Given the description of an element on the screen output the (x, y) to click on. 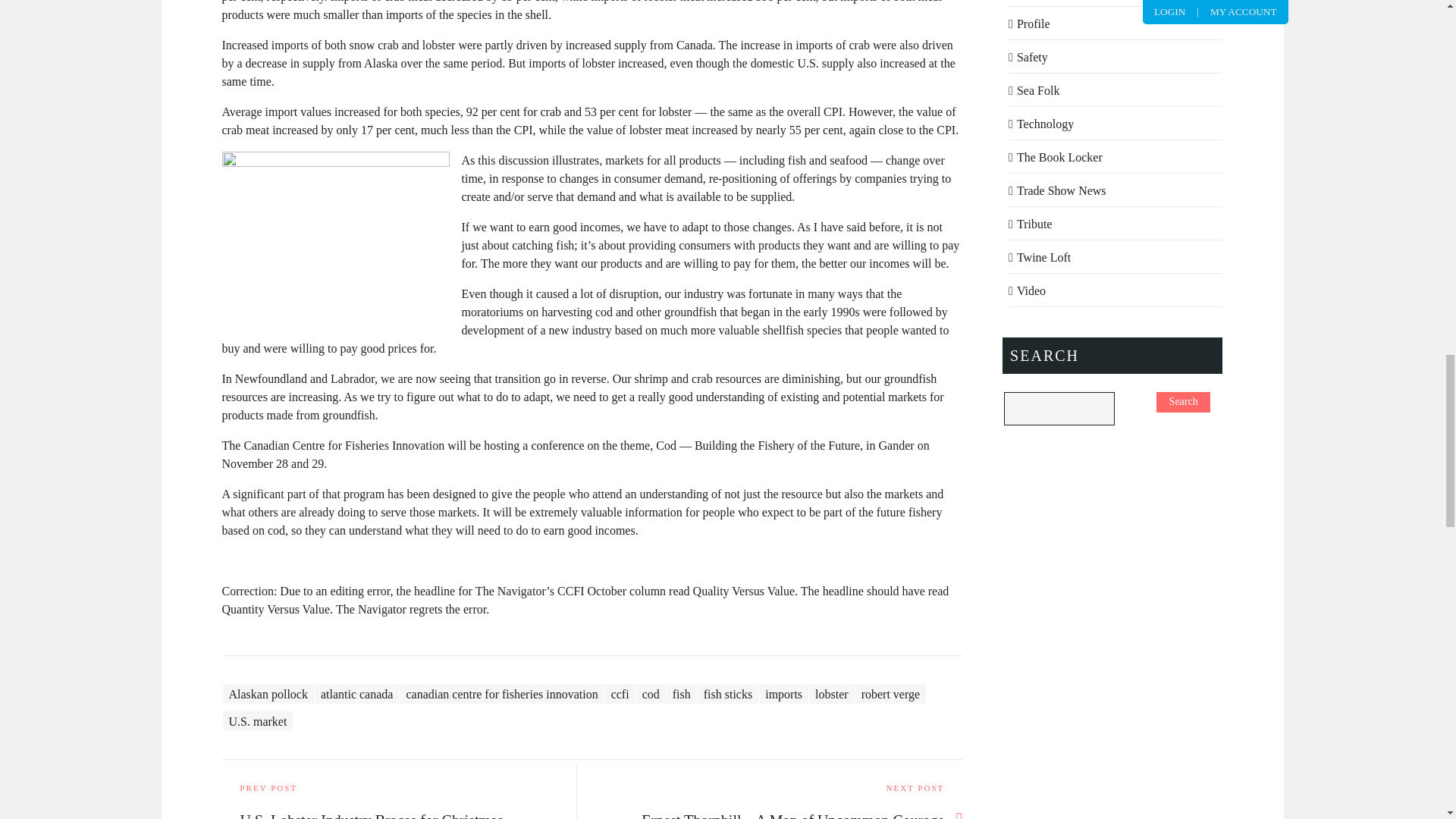
Search (1183, 402)
canadian centre for fisheries innovation (501, 693)
fish sticks (727, 693)
atlantic canada (356, 693)
cod (650, 693)
fish (681, 693)
ccfi (619, 693)
Alaskan pollock (268, 693)
